Given the description of an element on the screen output the (x, y) to click on. 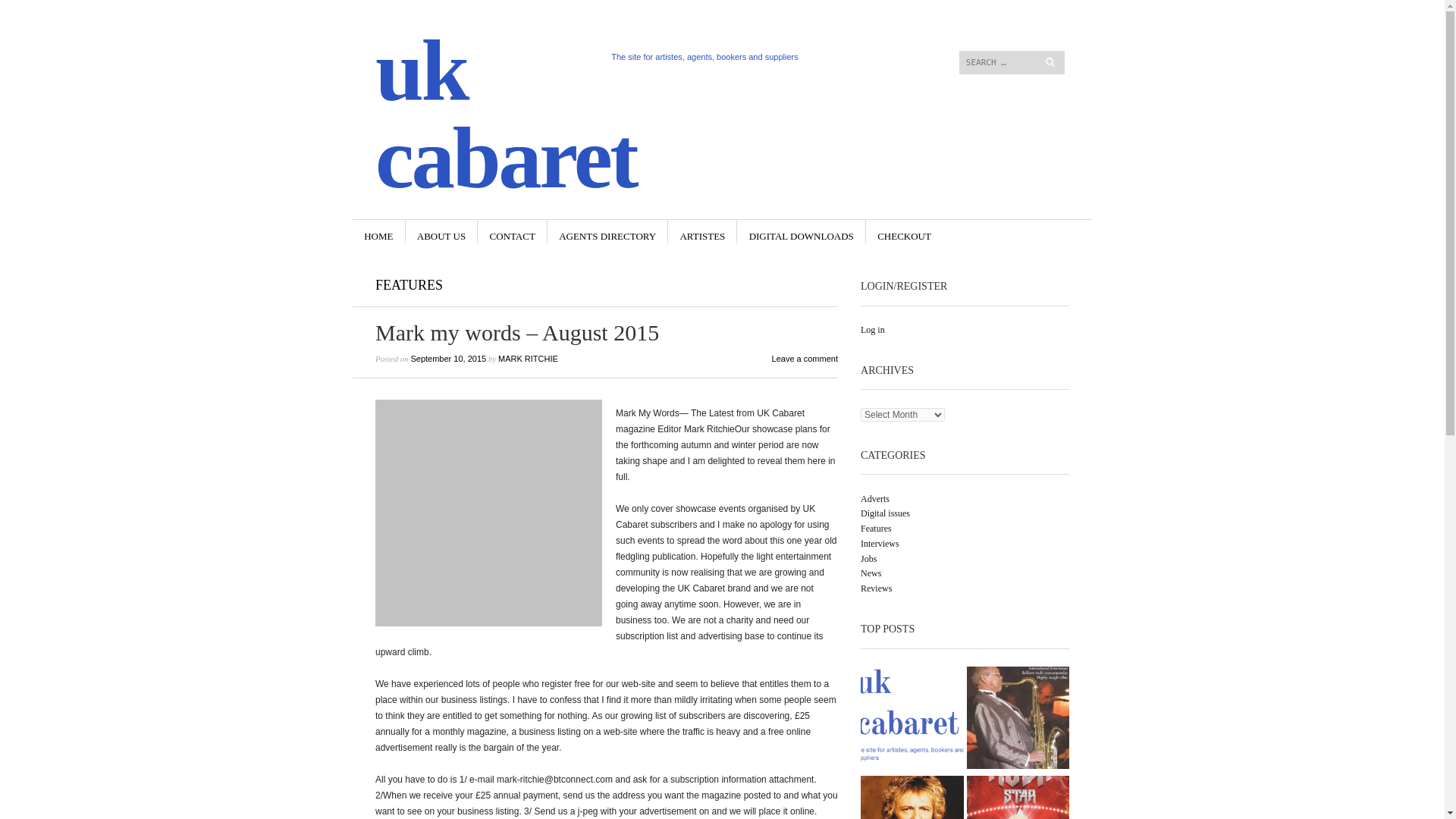
HOME (378, 231)
The Fringe of 2024 (911, 719)
View all posts by Mark Ritchie (527, 358)
CHECKOUT (904, 231)
Log in (872, 329)
Skip to content (885, 23)
ABOUT US (440, 231)
Reviews (875, 588)
1:40 pm (448, 358)
AGENTS DIRECTORY (607, 231)
